Given the description of an element on the screen output the (x, y) to click on. 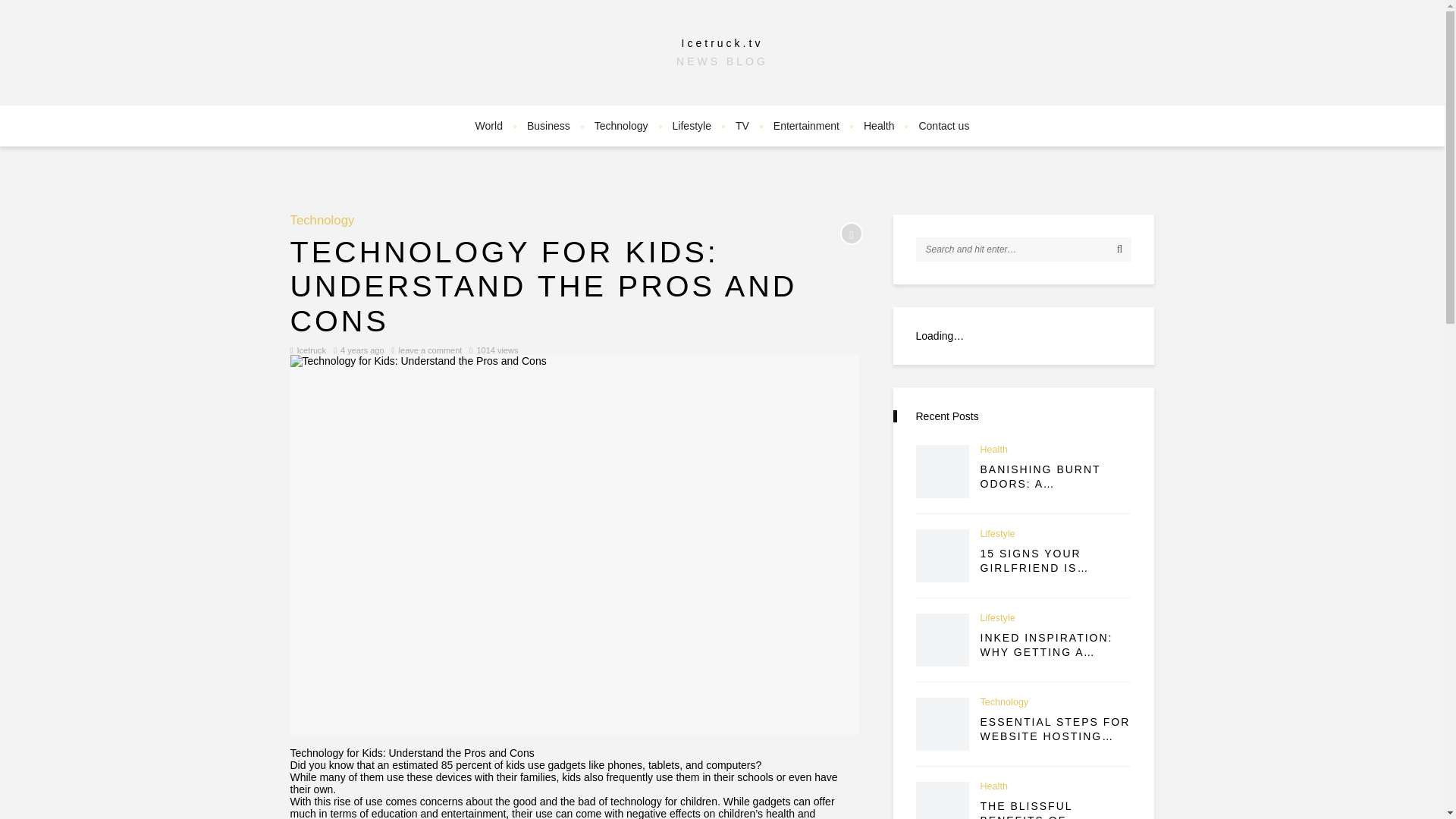
Technology (321, 220)
Entertainment (806, 125)
World (488, 125)
Technology (621, 125)
Contact us (943, 125)
leave a comment (430, 349)
Icetruck (311, 349)
Lifestyle (692, 125)
Icetruck.tv (721, 42)
